Given the description of an element on the screen output the (x, y) to click on. 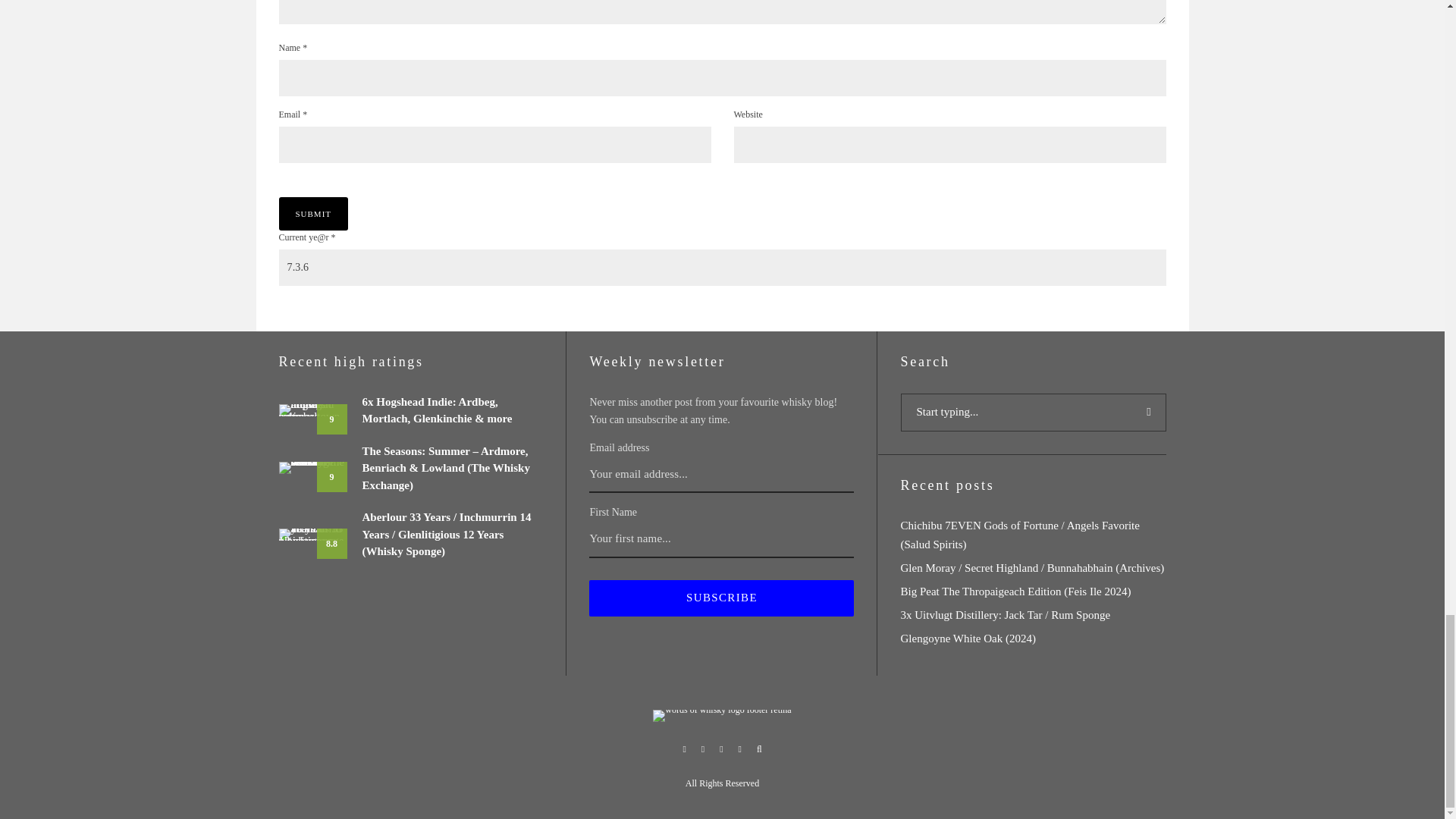
Subscribe (721, 597)
Submit (314, 213)
7.3.6 (722, 267)
